Given the description of an element on the screen output the (x, y) to click on. 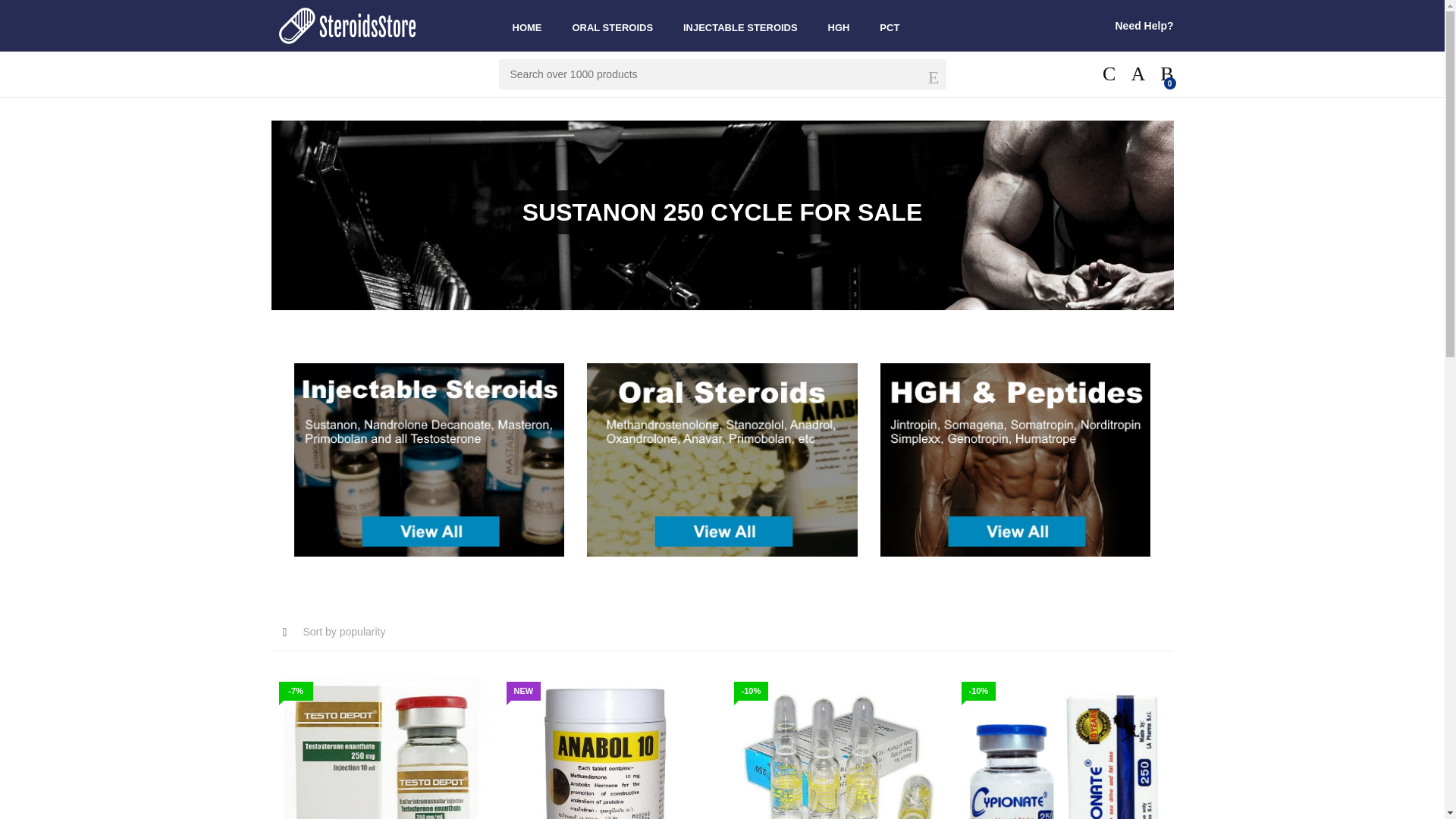
PCT (889, 25)
HGH (838, 25)
Need Help? (1144, 25)
INJECTABLE STEROIDS (739, 25)
HOME (527, 25)
ORAL STEROIDS (611, 25)
